Given the description of an element on the screen output the (x, y) to click on. 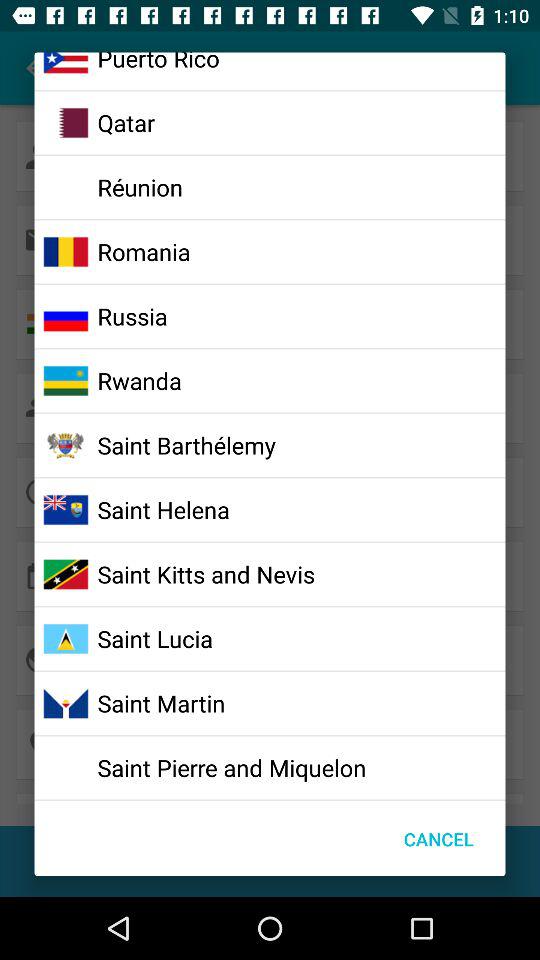
turn on the item above saint pierre and item (161, 703)
